Given the description of an element on the screen output the (x, y) to click on. 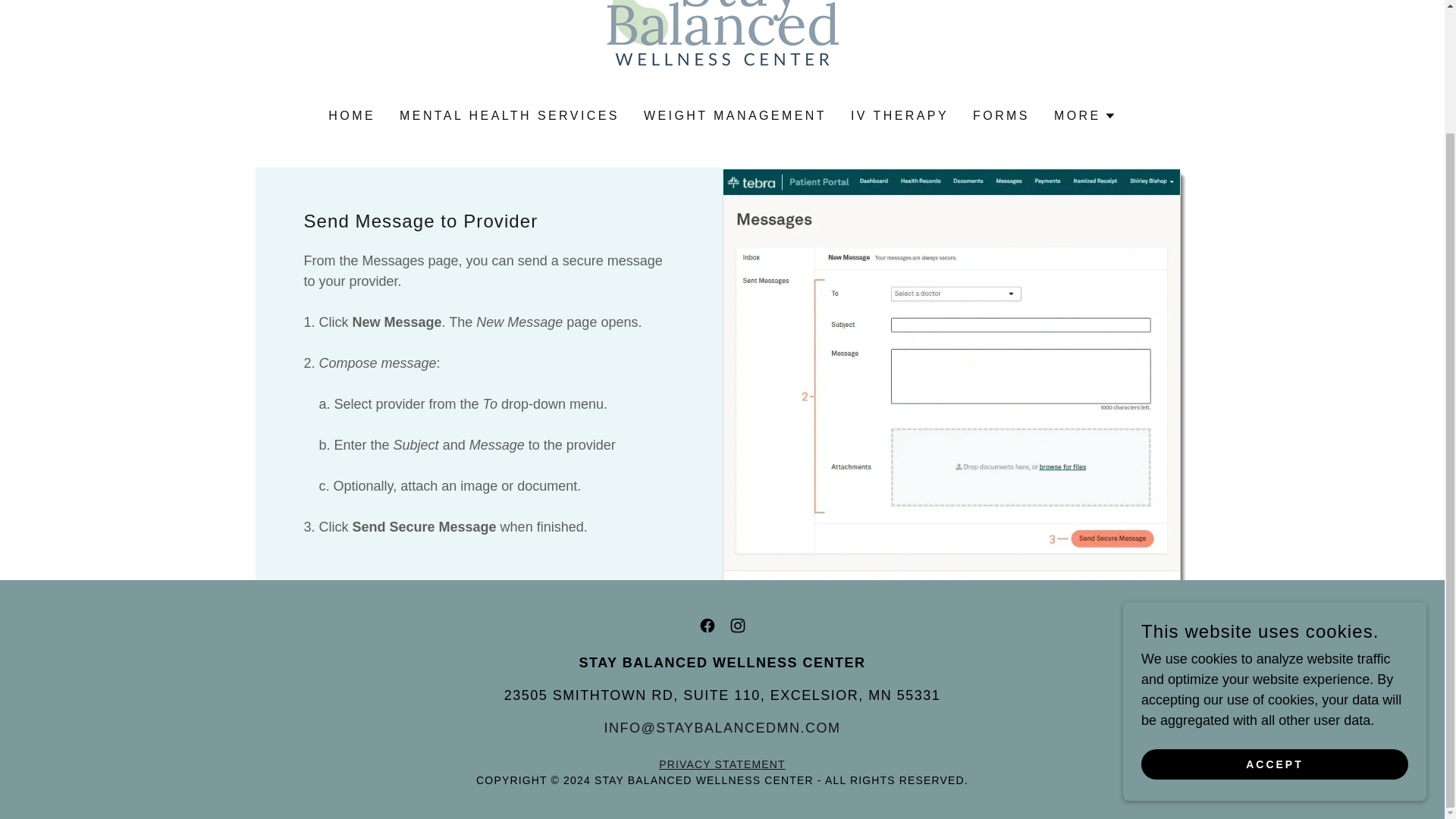
ACCEPT (1274, 616)
MENTAL HEALTH SERVICES (509, 115)
MORE (1085, 116)
FORMS (1000, 115)
WEIGHT MANAGEMENT (735, 115)
HOME (351, 115)
PRIVACY STATEMENT (722, 764)
IV THERAPY (899, 115)
